Given the description of an element on the screen output the (x, y) to click on. 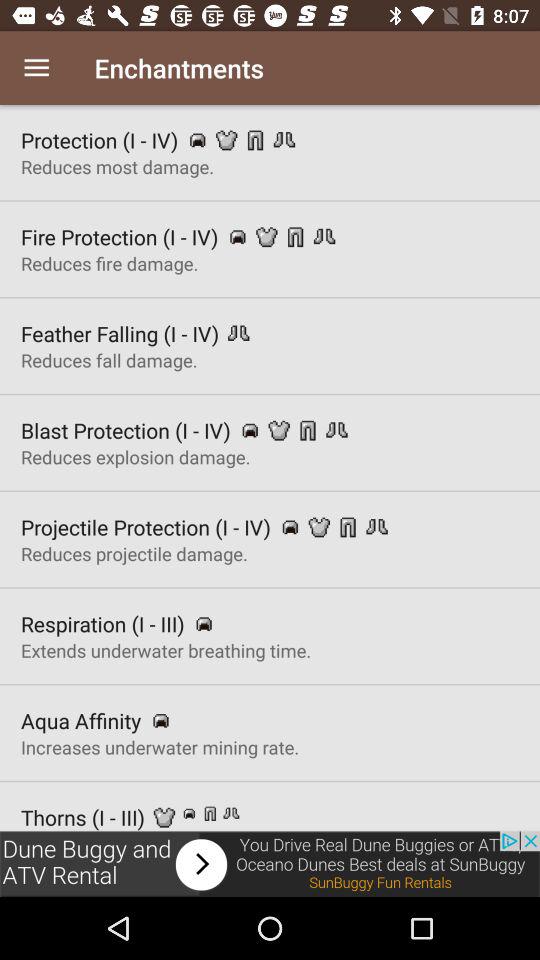
click advertisement (270, 864)
